Given the description of an element on the screen output the (x, y) to click on. 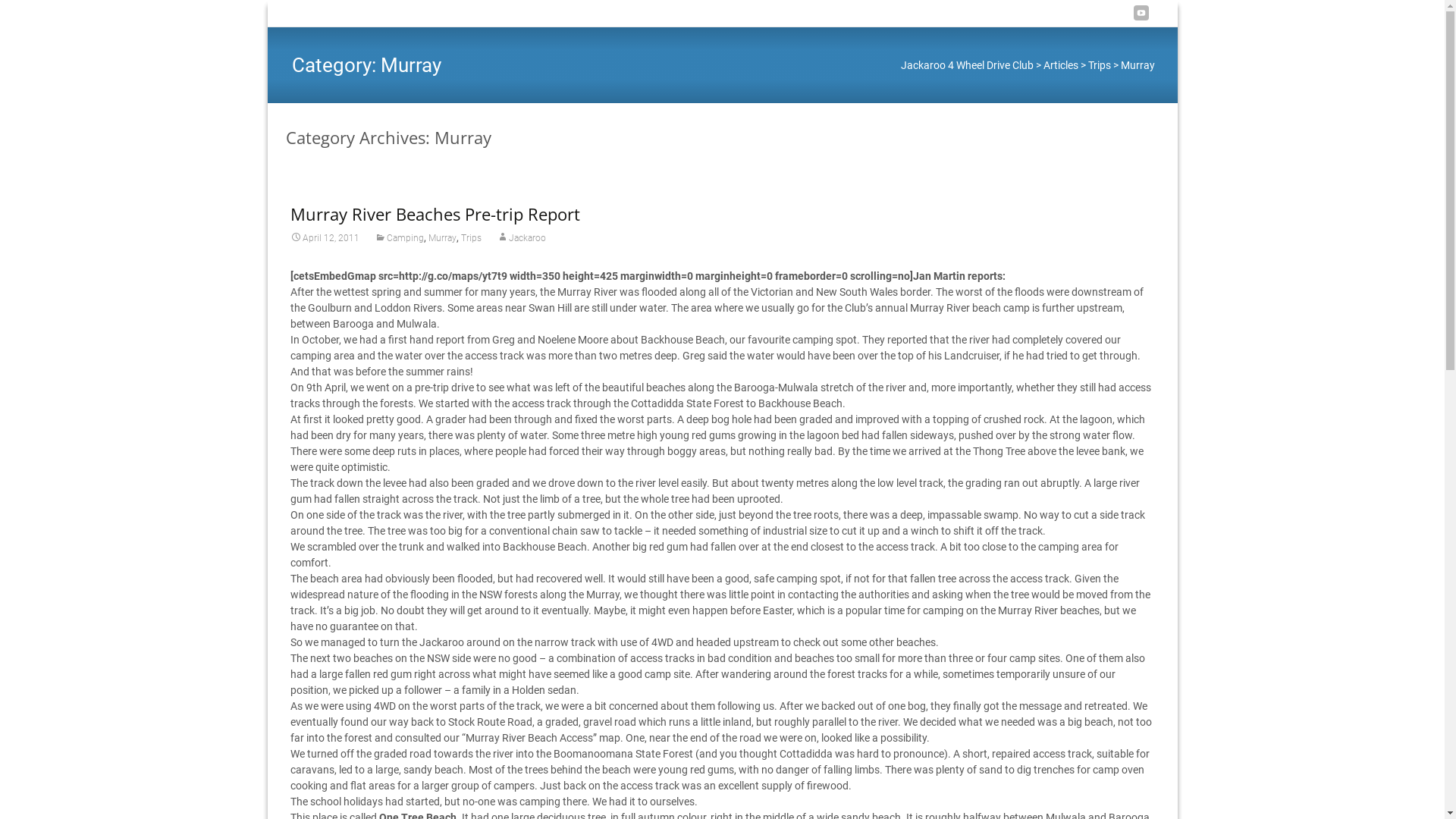
April 12, 2011 Element type: text (323, 237)
Murray River Beaches Pre-trip Report Element type: text (434, 213)
youtube Element type: hover (1140, 18)
Camping Element type: text (398, 237)
Murray Element type: text (441, 237)
Trips Element type: text (471, 237)
Articles Element type: text (1060, 65)
Jackaroo 4 Wheel Drive Club Element type: text (966, 65)
Trips Element type: text (1098, 65)
Jackaroo Element type: text (520, 237)
